Given the description of an element on the screen output the (x, y) to click on. 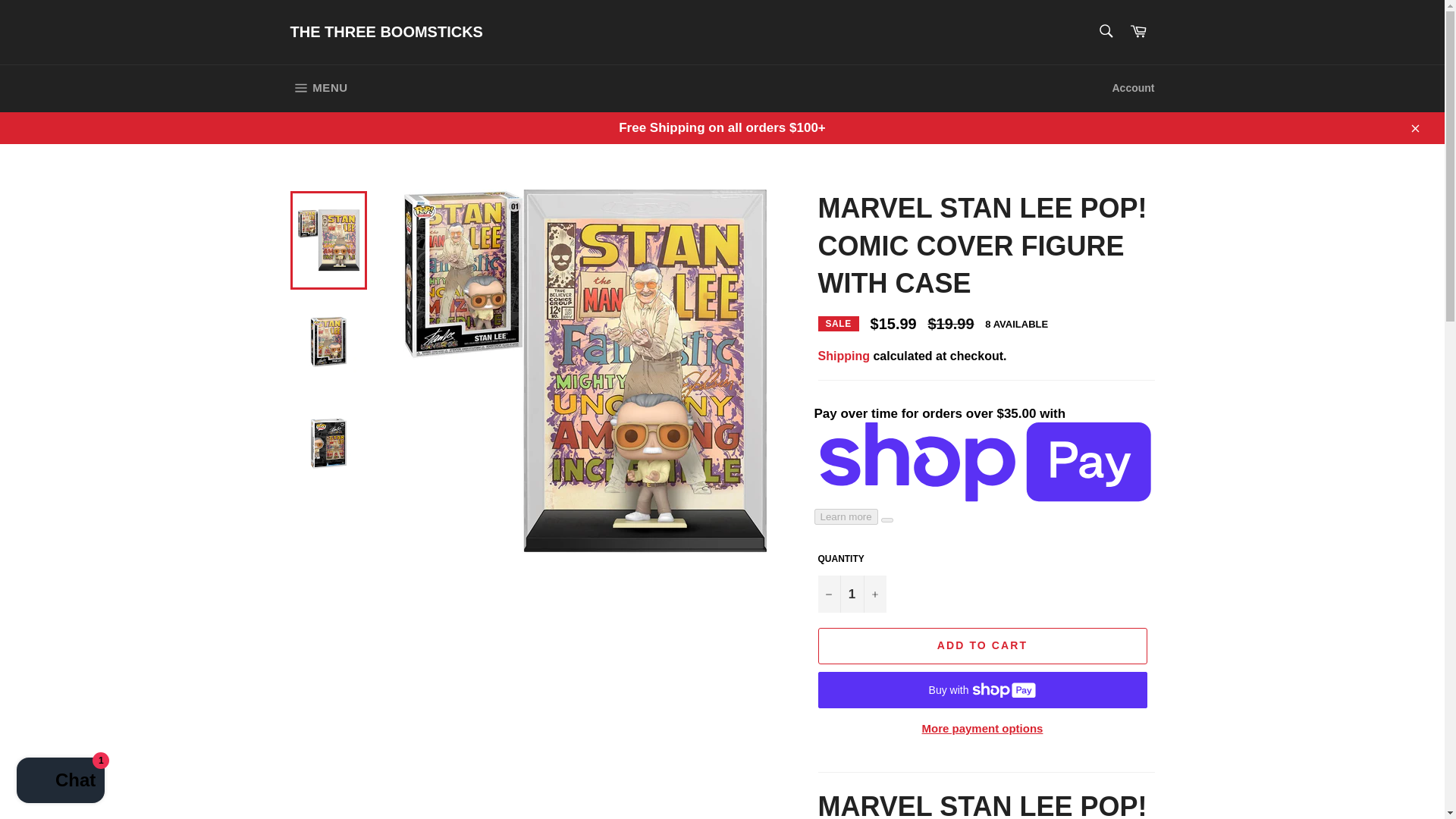
THE THREE BOOMSTICKS (385, 32)
Search (1104, 30)
1 (850, 593)
Shopify online store chat (318, 88)
Cart (60, 781)
